Given the description of an element on the screen output the (x, y) to click on. 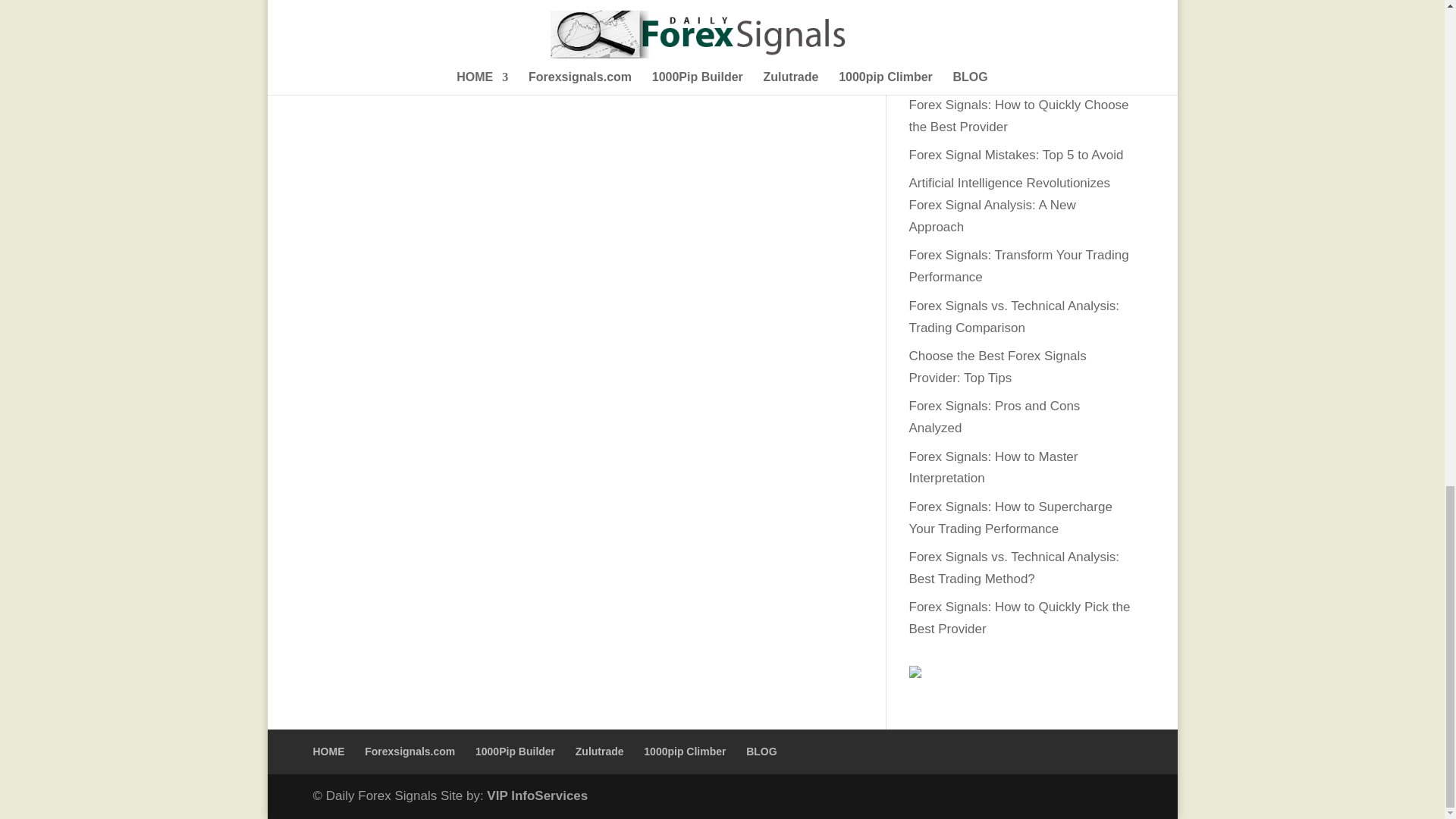
Forex Signal Mistakes: Top 5 to Avoid (1015, 155)
Forex Signals: How to Quickly Choose the Best Provider (1018, 115)
Forex Signals vs. Technical Analysis: Which is Better? (1013, 64)
